Given the description of an element on the screen output the (x, y) to click on. 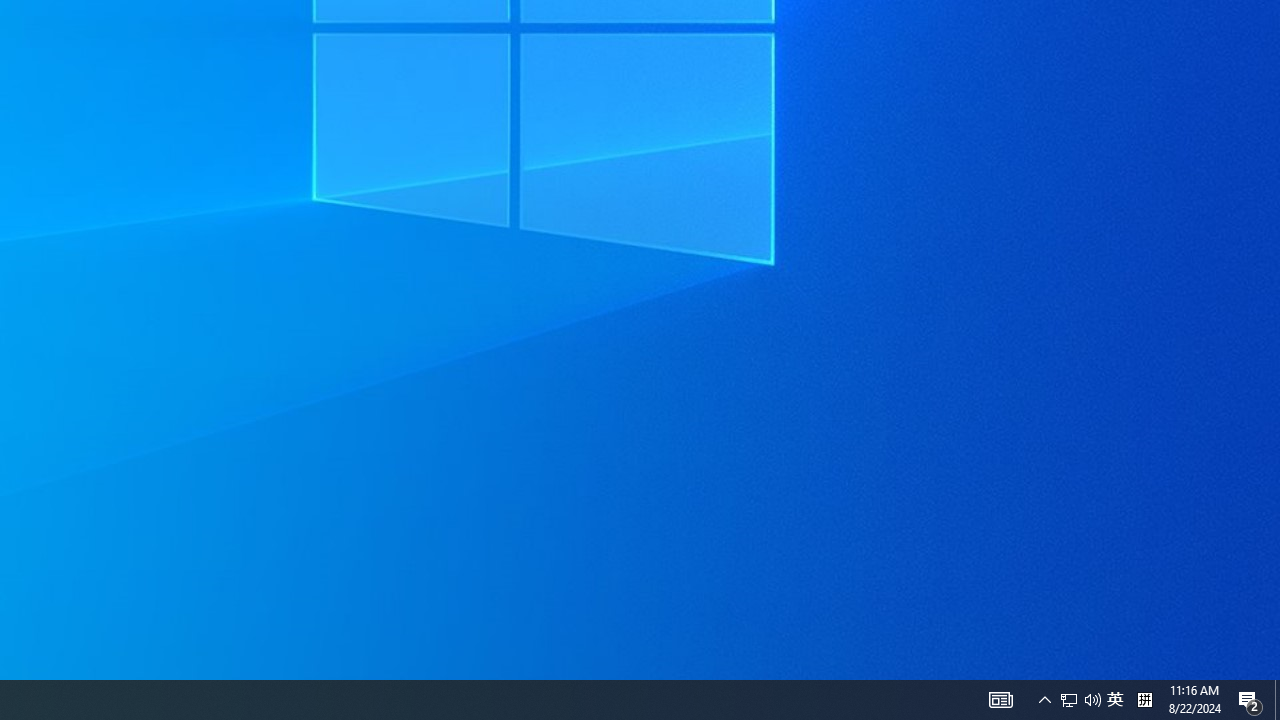
Action Center, 2 new notifications (1250, 699)
Show desktop (1277, 699)
User Promoted Notification Area (1069, 699)
Tray Input Indicator - Chinese (Simplified, China) (1115, 699)
AutomationID: 4105 (1080, 699)
Notification Chevron (1144, 699)
Q2790: 100% (1000, 699)
